Given the description of an element on the screen output the (x, y) to click on. 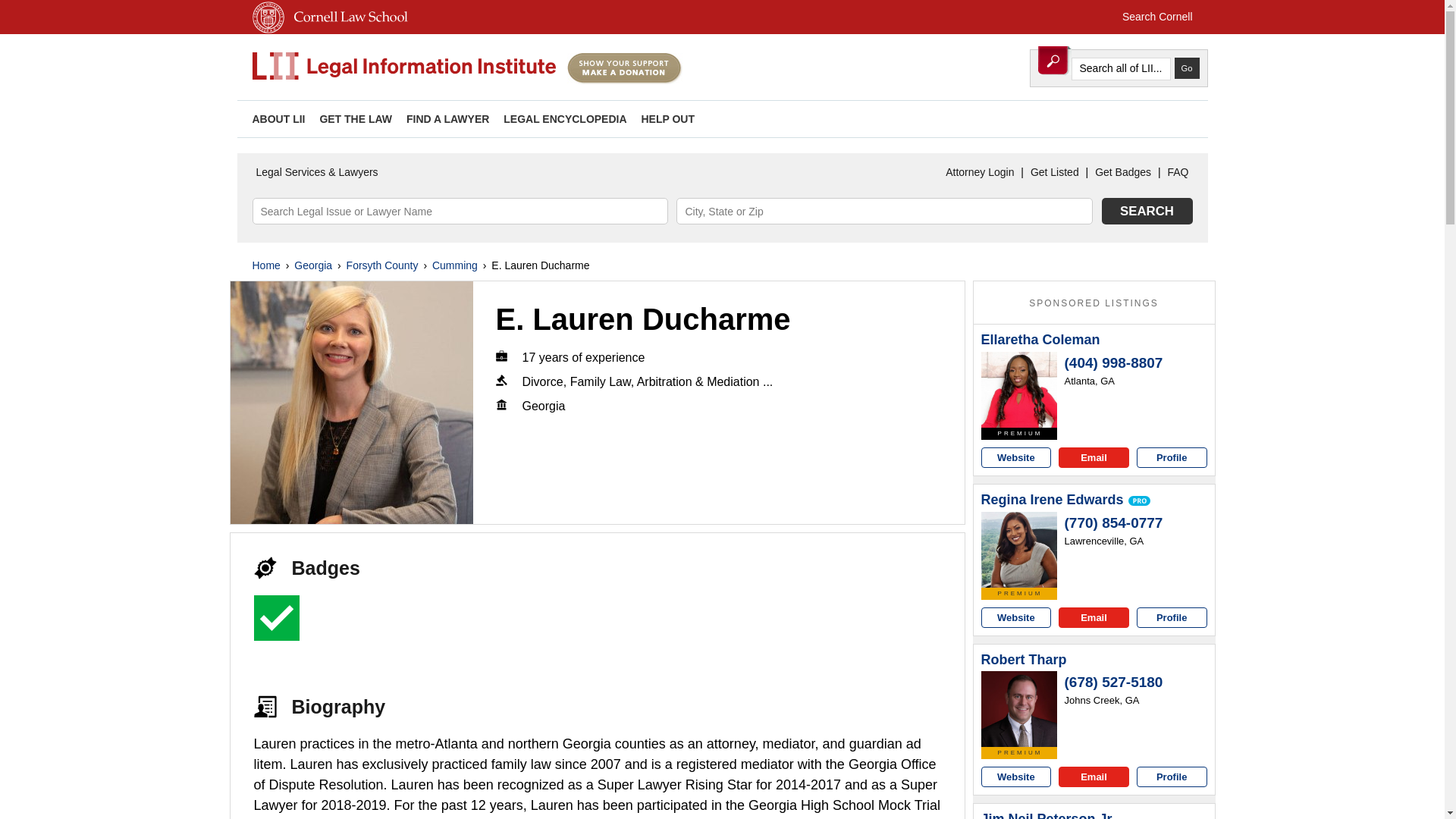
Cornell - LII Attorney Directory (402, 67)
Georgia (312, 264)
SEARCH (1146, 211)
Search Legal Issue or Lawyer Name (459, 211)
Jim Neil Peterson Jr (1046, 815)
Attorney Login (979, 172)
E. Lauren Ducharme (351, 402)
City, State or Zip (885, 211)
Ellaretha Coleman (1040, 340)
facebook like (1173, 118)
